Given the description of an element on the screen output the (x, y) to click on. 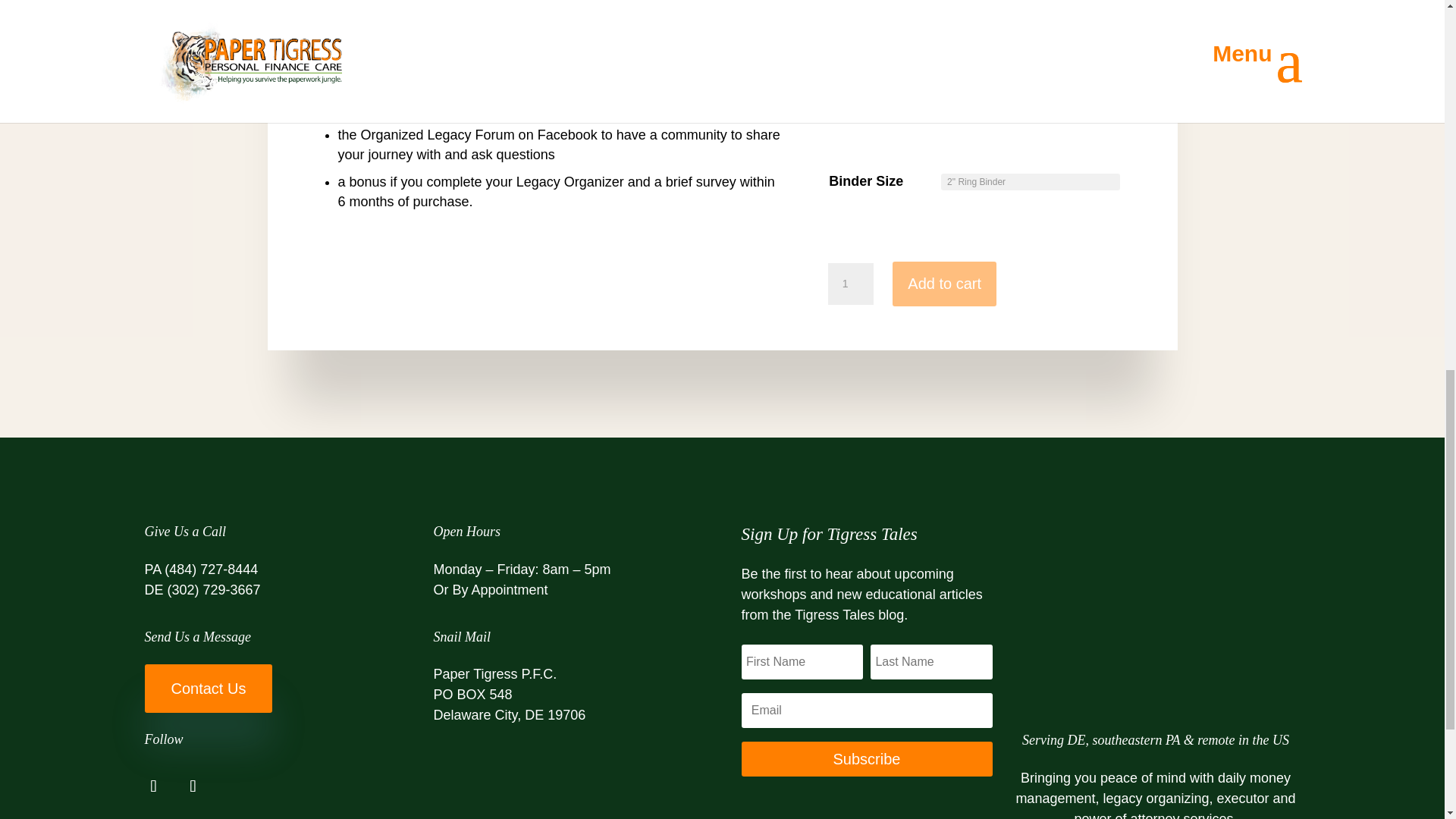
Contact Us (208, 688)
Follow on LinkedIn (192, 786)
Add to cart (943, 283)
1 (850, 283)
Subscribe (866, 759)
Follow on Facebook (153, 786)
